Given the description of an element on the screen output the (x, y) to click on. 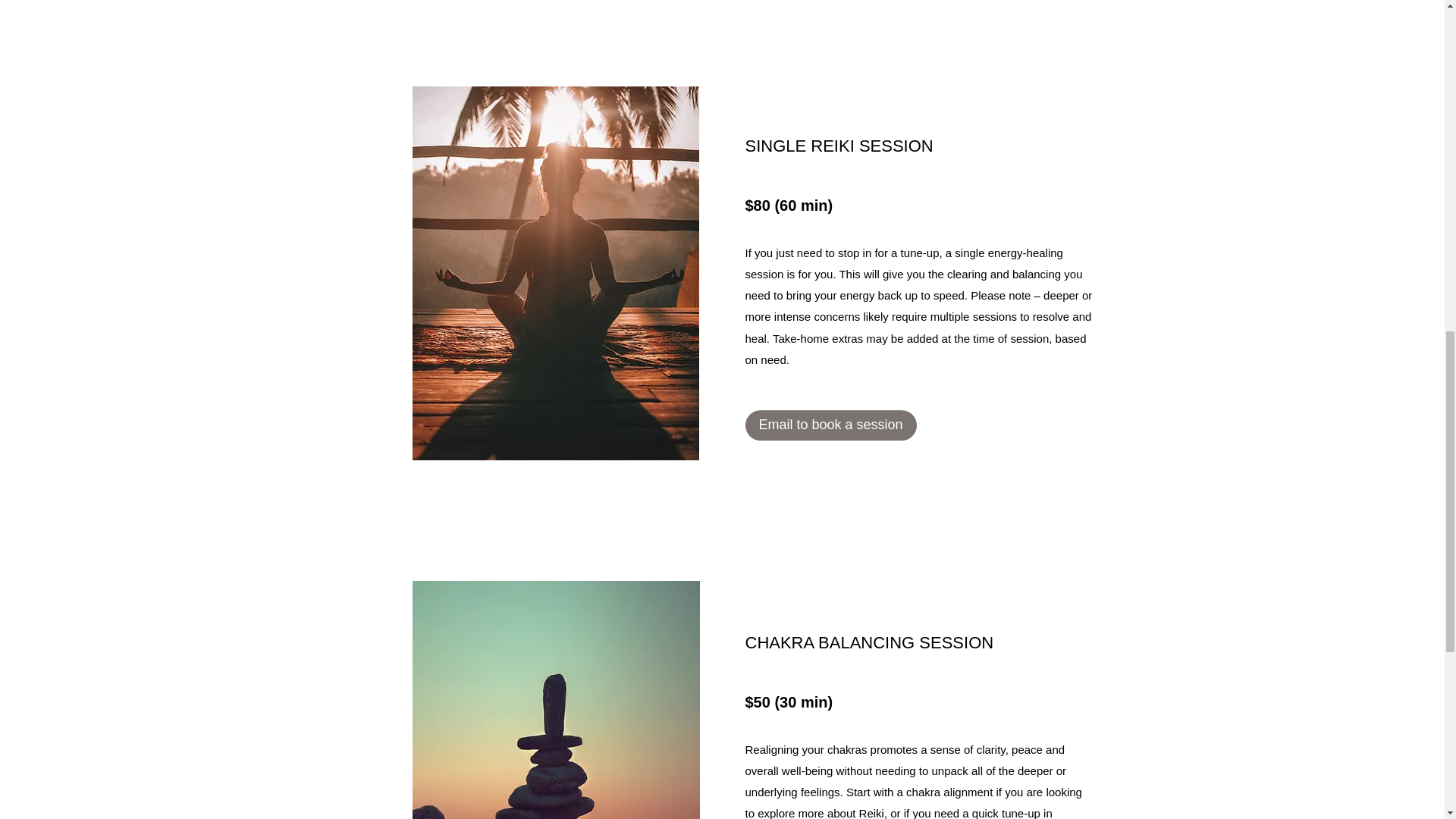
Email to book a session (829, 425)
